Given the description of an element on the screen output the (x, y) to click on. 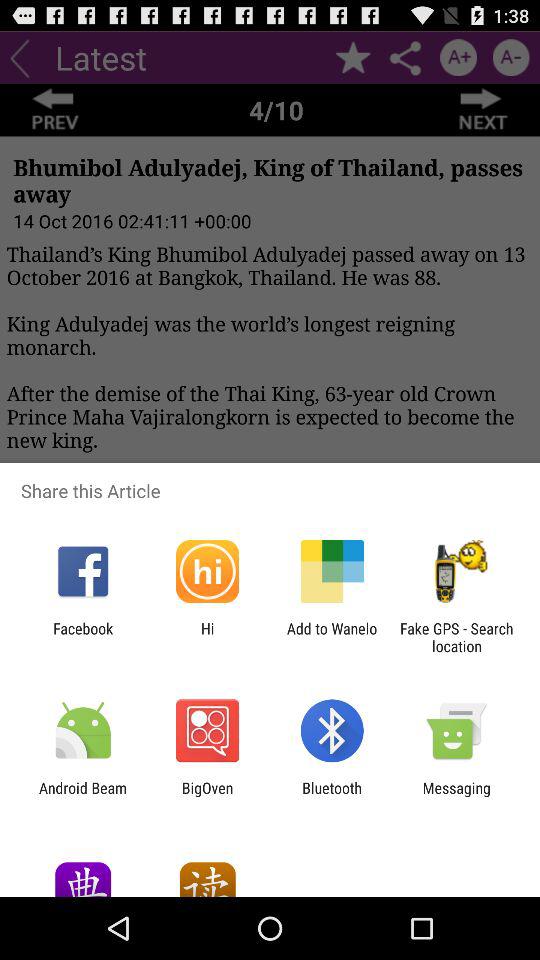
turn on item to the right of the facebook item (207, 637)
